Given the description of an element on the screen output the (x, y) to click on. 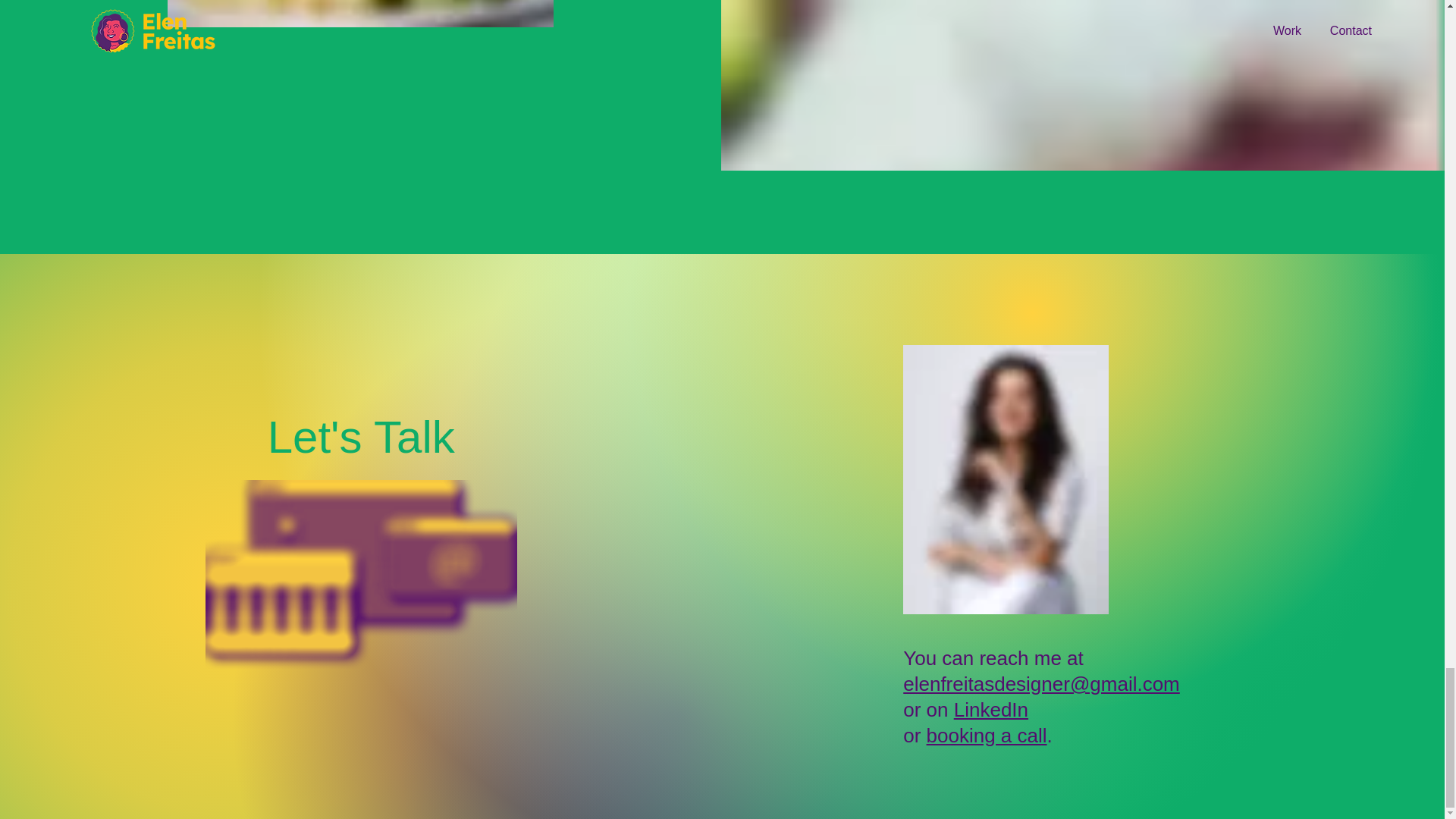
booking a call (986, 734)
or  (964, 748)
LinkedIn (990, 709)
